Given the description of an element on the screen output the (x, y) to click on. 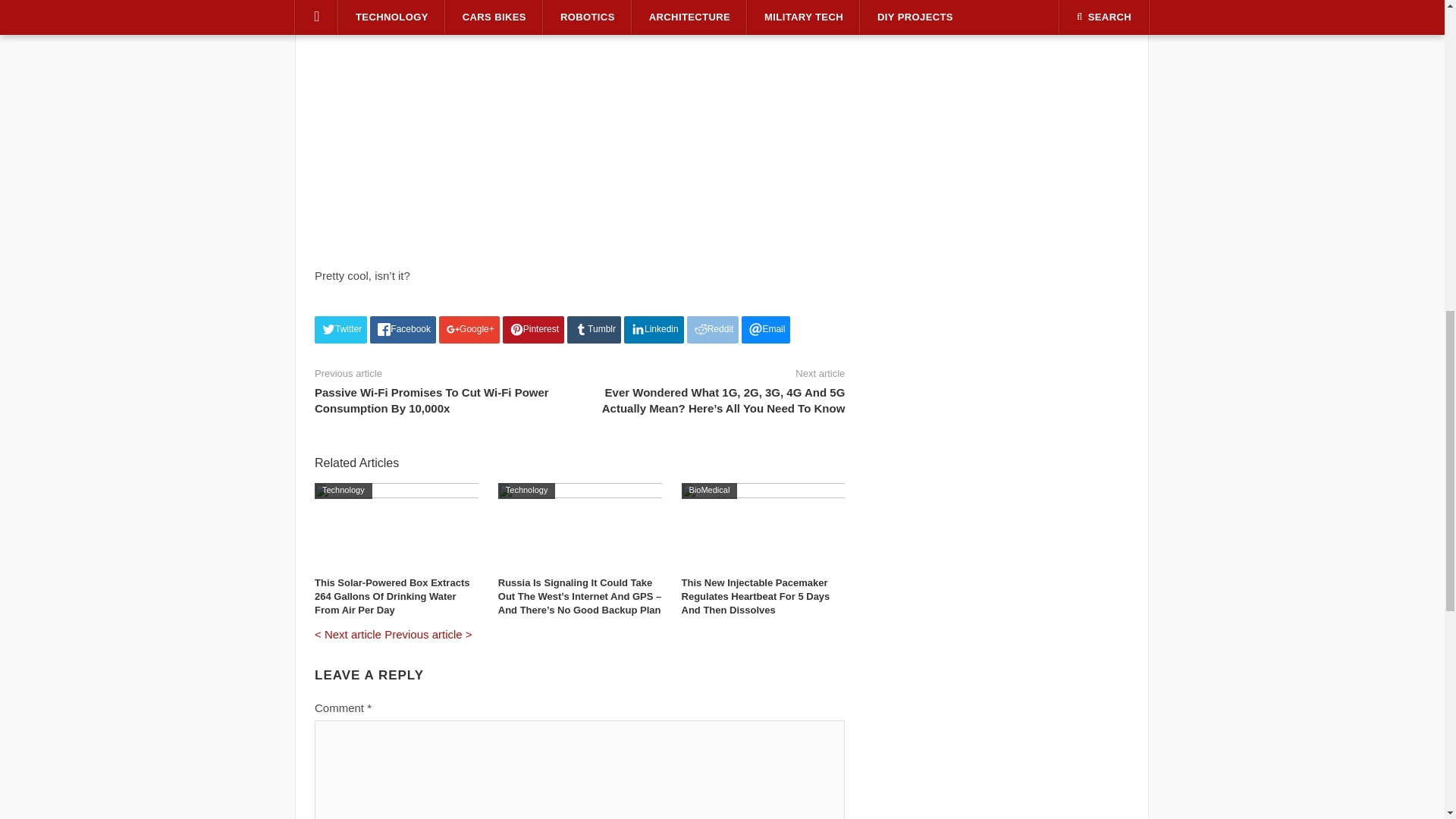
Reddit (713, 329)
Twitter (340, 329)
Tumblr (594, 329)
Email (765, 329)
Linkedin (654, 329)
Pinterest (533, 329)
Facebook (402, 329)
